Given the description of an element on the screen output the (x, y) to click on. 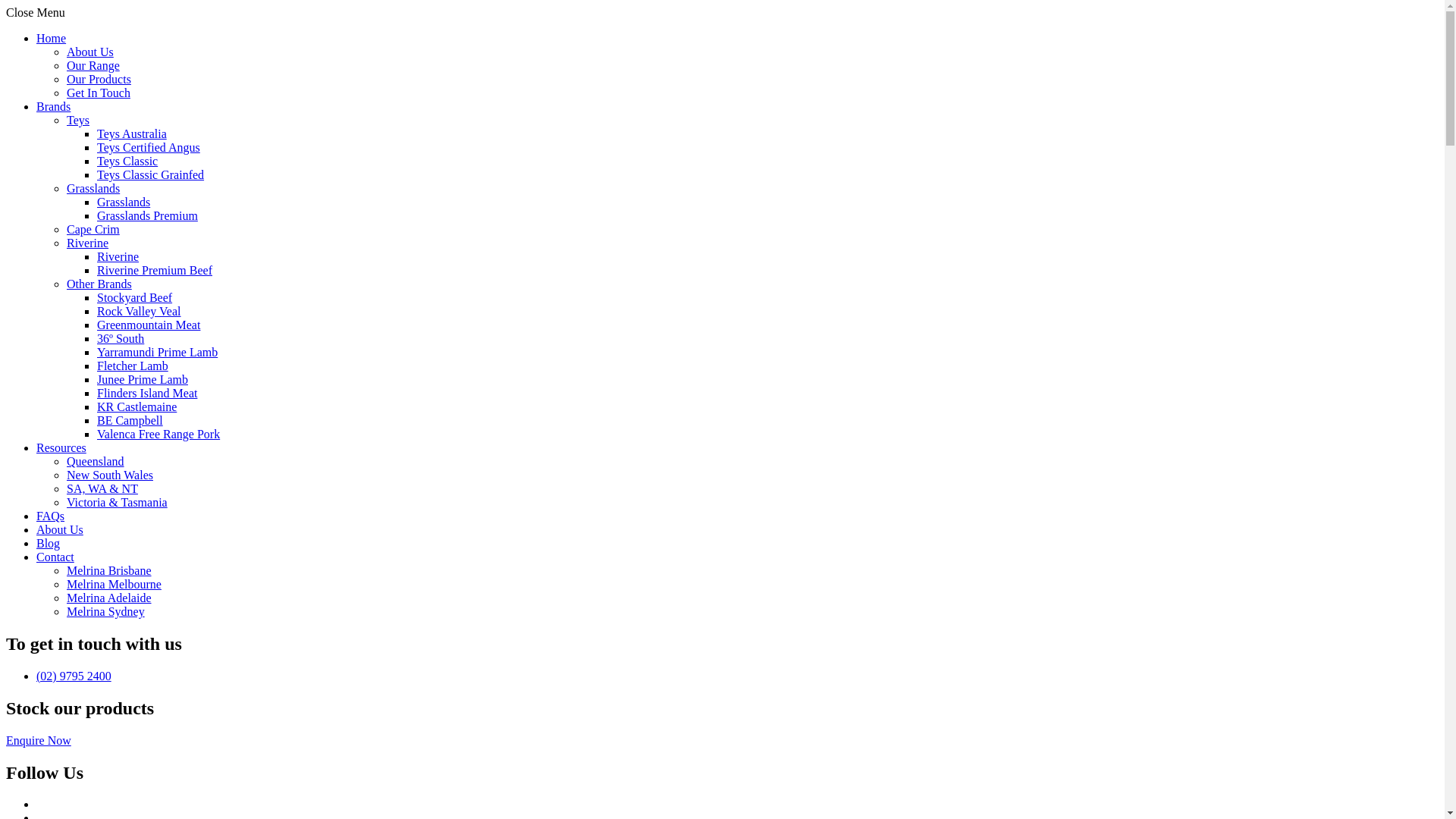
Stockyard Beef Element type: text (134, 297)
Teys Certified Angus Element type: text (148, 147)
Queensland Element type: text (95, 461)
Teys Element type: text (77, 119)
Melrina Brisbane Element type: text (108, 570)
Greenmountain Meat Element type: text (148, 324)
Riverine Element type: text (87, 242)
SA, WA & NT Element type: text (102, 488)
Flinders Island Meat Element type: text (147, 392)
Grasslands Element type: text (92, 188)
Grasslands Element type: text (123, 201)
Riverine Element type: text (117, 256)
FAQs Element type: text (50, 515)
Rock Valley Veal Element type: text (139, 310)
Valenca Free Range Pork Element type: text (158, 433)
Cape Crim Element type: text (92, 228)
Resources Element type: text (61, 447)
New South Wales Element type: text (109, 474)
Victoria & Tasmania Element type: text (116, 501)
Melrina Melbourne Element type: text (113, 583)
Get In Touch Element type: text (98, 92)
Melrina Adelaide Element type: text (108, 597)
BE Campbell Element type: text (130, 420)
About Us Element type: text (59, 529)
Home Element type: text (50, 37)
Brands Element type: text (53, 106)
Teys Classic Element type: text (127, 160)
Melrina Sydney Element type: text (105, 611)
Grasslands Premium Element type: text (147, 215)
Teys Australia Element type: text (131, 133)
Our Products Element type: text (98, 78)
Fletcher Lamb Element type: text (132, 365)
Other Brands Element type: text (98, 283)
Blog Element type: text (47, 542)
Our Range Element type: text (92, 65)
Riverine Premium Beef Element type: text (154, 269)
(02) 9795 2400 Element type: text (73, 675)
Yarramundi Prime Lamb Element type: text (157, 351)
Enquire Now Element type: text (38, 740)
About Us Element type: text (89, 51)
Junee Prime Lamb Element type: text (142, 379)
Contact Element type: text (55, 556)
Teys Classic Grainfed Element type: text (150, 174)
KR Castlemaine Element type: text (136, 406)
